Given the description of an element on the screen output the (x, y) to click on. 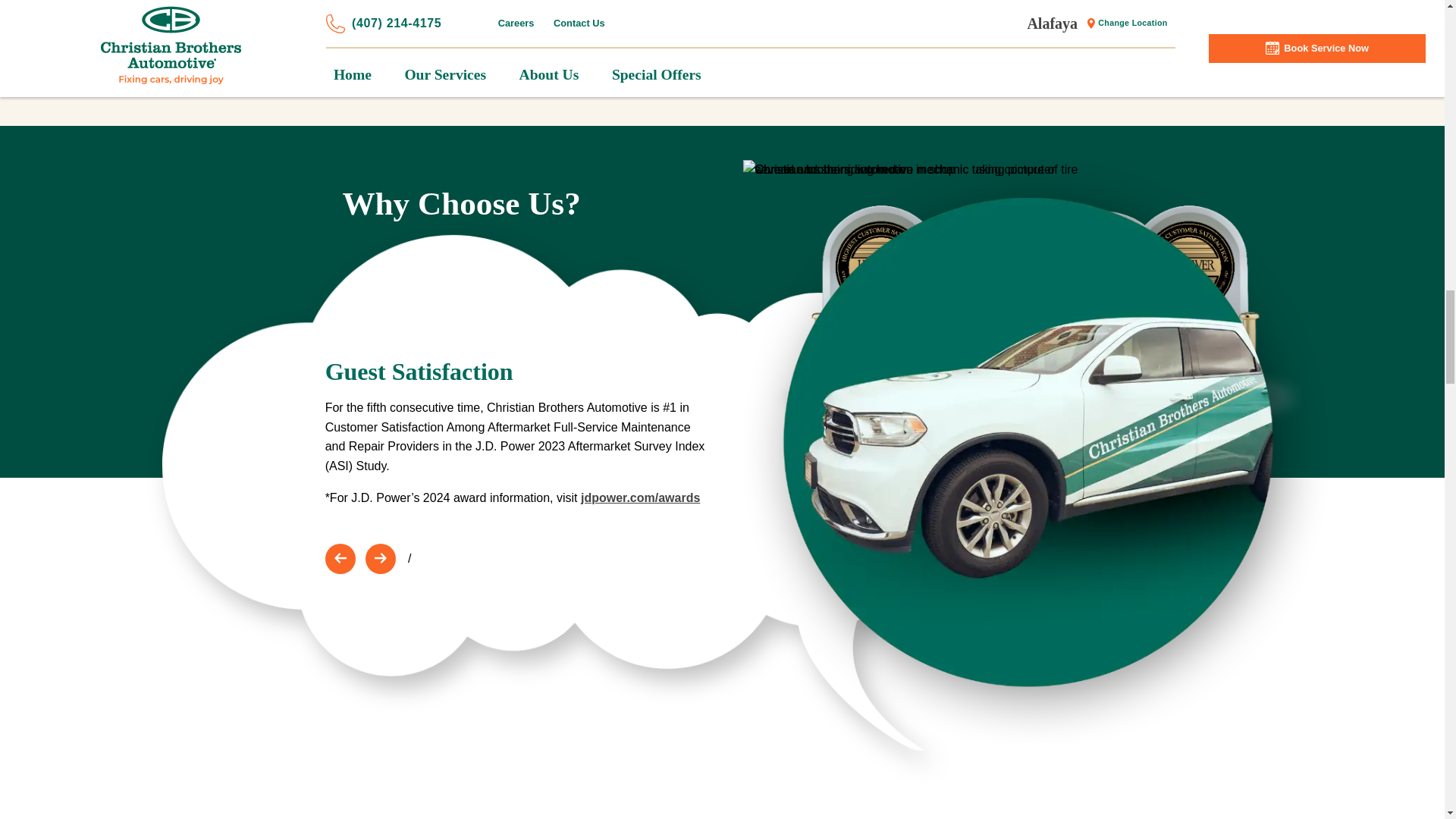
View previous item (339, 558)
View next item (380, 558)
